Given the description of an element on the screen output the (x, y) to click on. 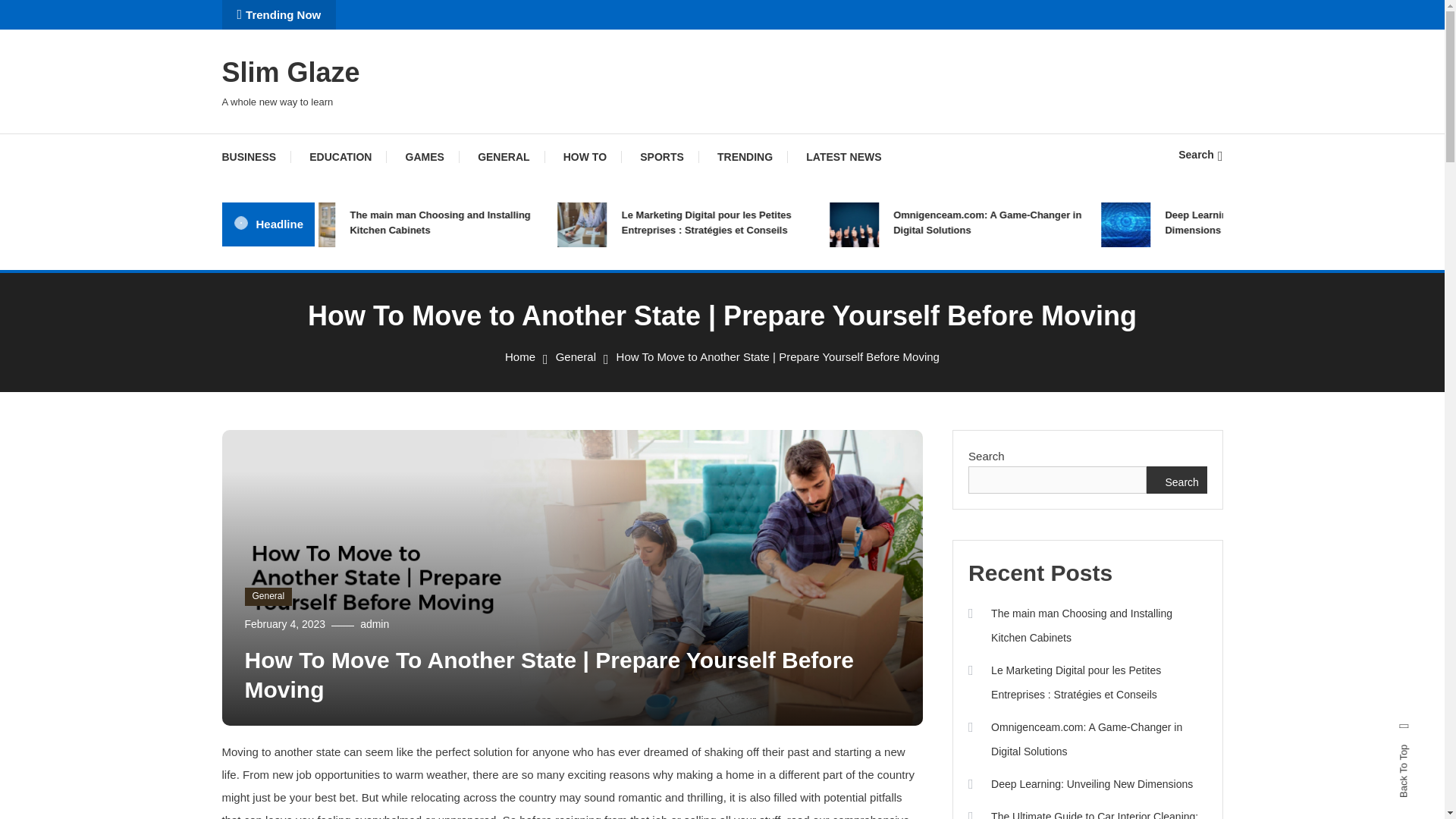
TRENDING (744, 156)
Omnigenceam.com: A Game-Changer in Digital Solutions (1020, 223)
February 4, 2023 (284, 623)
GAMES (425, 156)
LATEST NEWS (843, 156)
Search (1200, 154)
General (575, 356)
Search (768, 434)
General (268, 597)
GENERAL (503, 156)
